Given the description of an element on the screen output the (x, y) to click on. 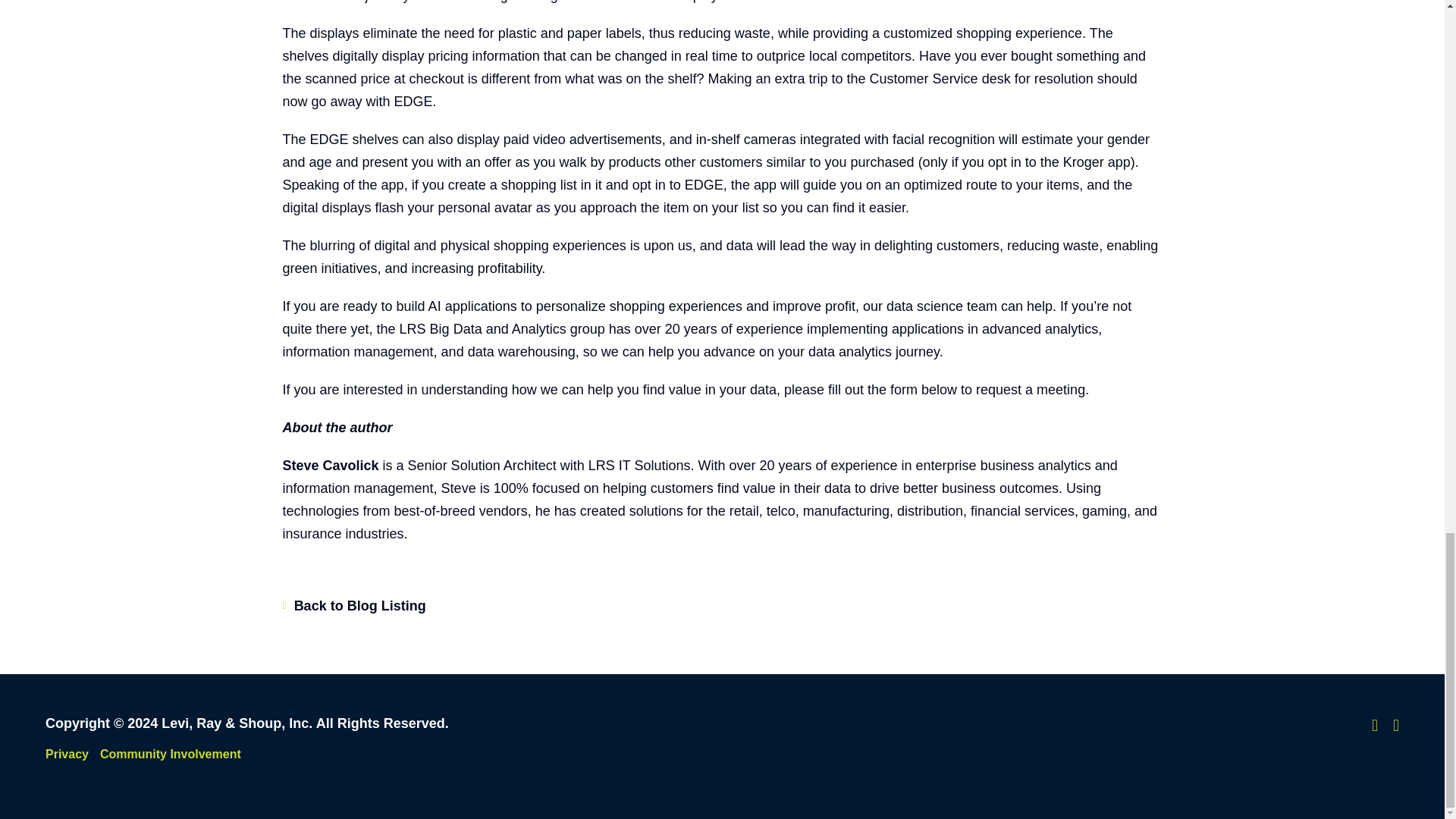
Community Involvement (170, 753)
Back to Blog Listing (353, 606)
Privacy (66, 753)
